Given the description of an element on the screen output the (x, y) to click on. 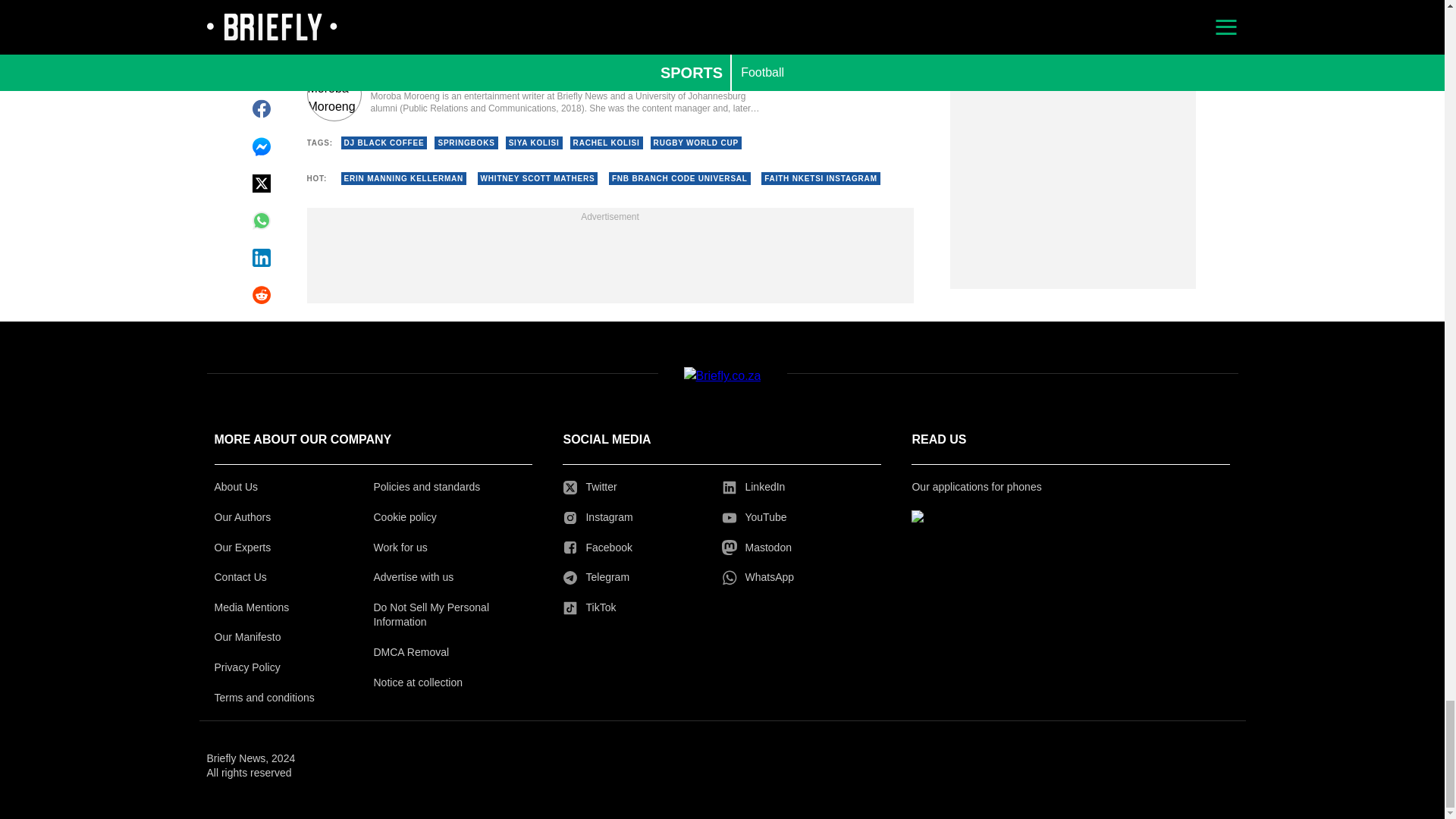
Author page (533, 93)
